Given the description of an element on the screen output the (x, y) to click on. 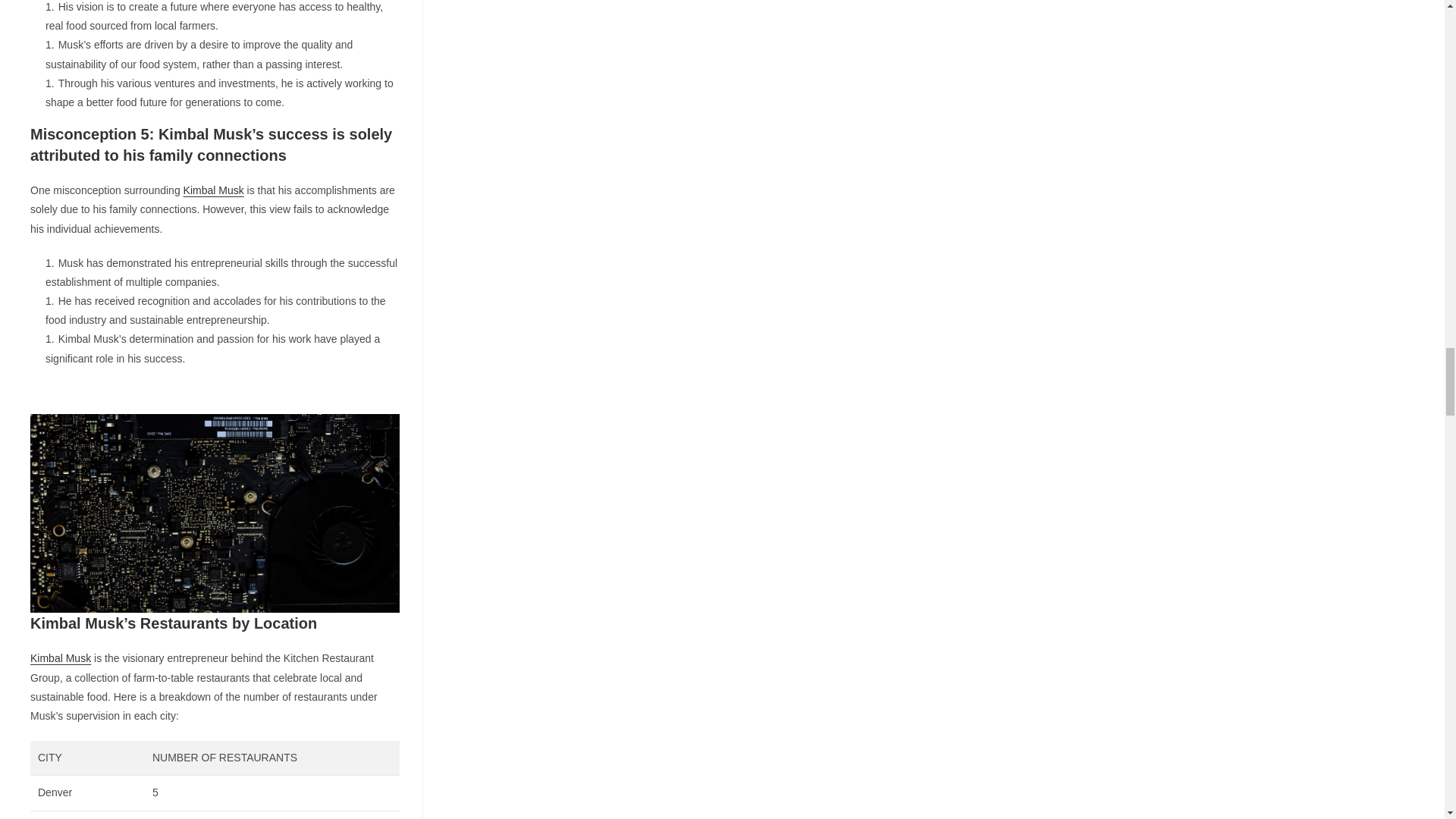
Kimbal Musk (213, 190)
Kimbal Musk (60, 657)
Kimbal Musk: Kitchen Restaurant Group (214, 513)
